Given the description of an element on the screen output the (x, y) to click on. 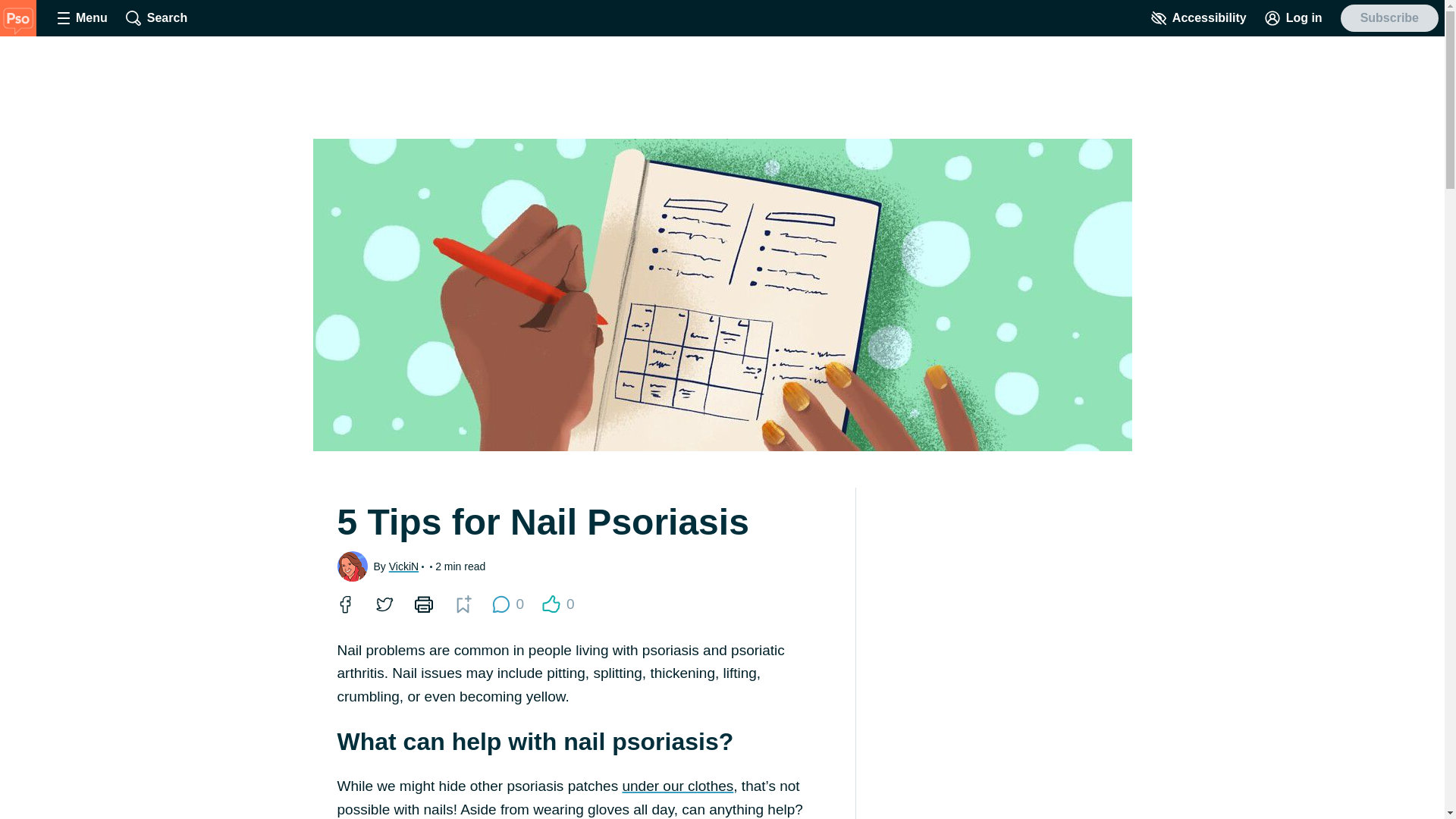
Menu (82, 18)
print page (422, 604)
Log in (1293, 18)
comment (500, 604)
Share to Facebook (344, 604)
Share to Twitter (383, 604)
Share to Twitter (506, 604)
under our clothes (383, 604)
Bookmark for later (677, 785)
